Given the description of an element on the screen output the (x, y) to click on. 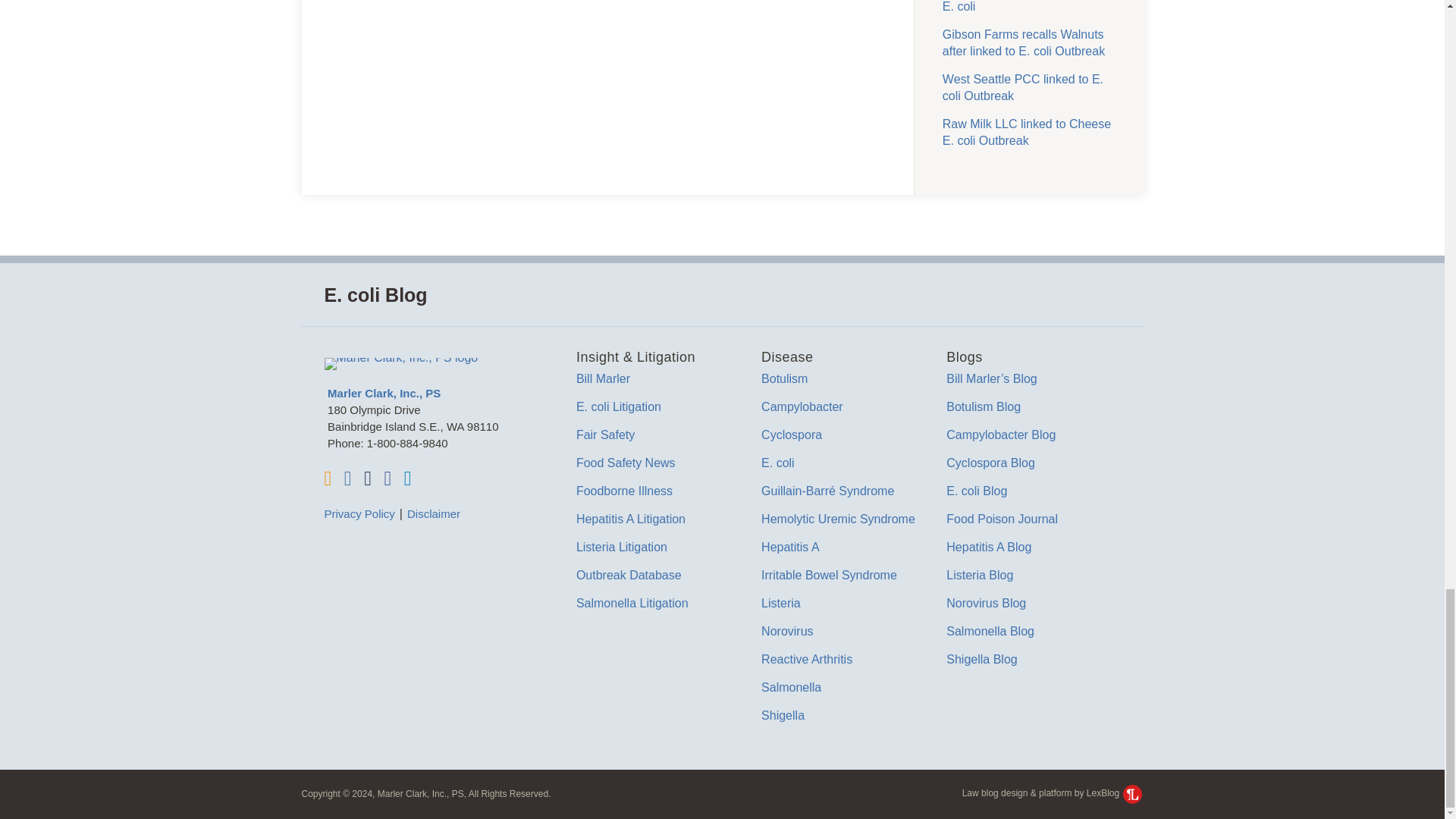
LexBlog Logo (1131, 793)
